Given the description of an element on the screen output the (x, y) to click on. 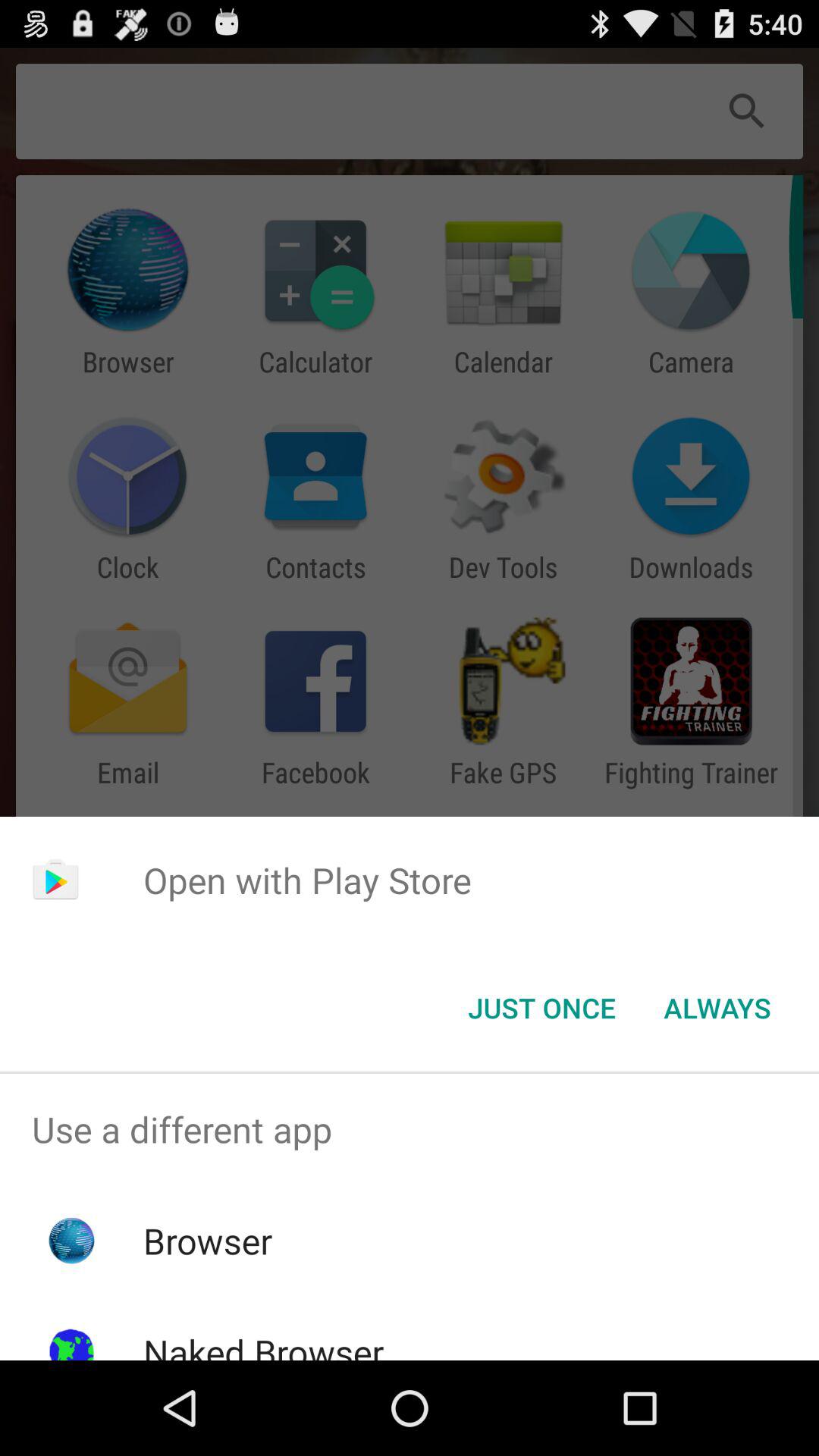
choose always button (717, 1007)
